Given the description of an element on the screen output the (x, y) to click on. 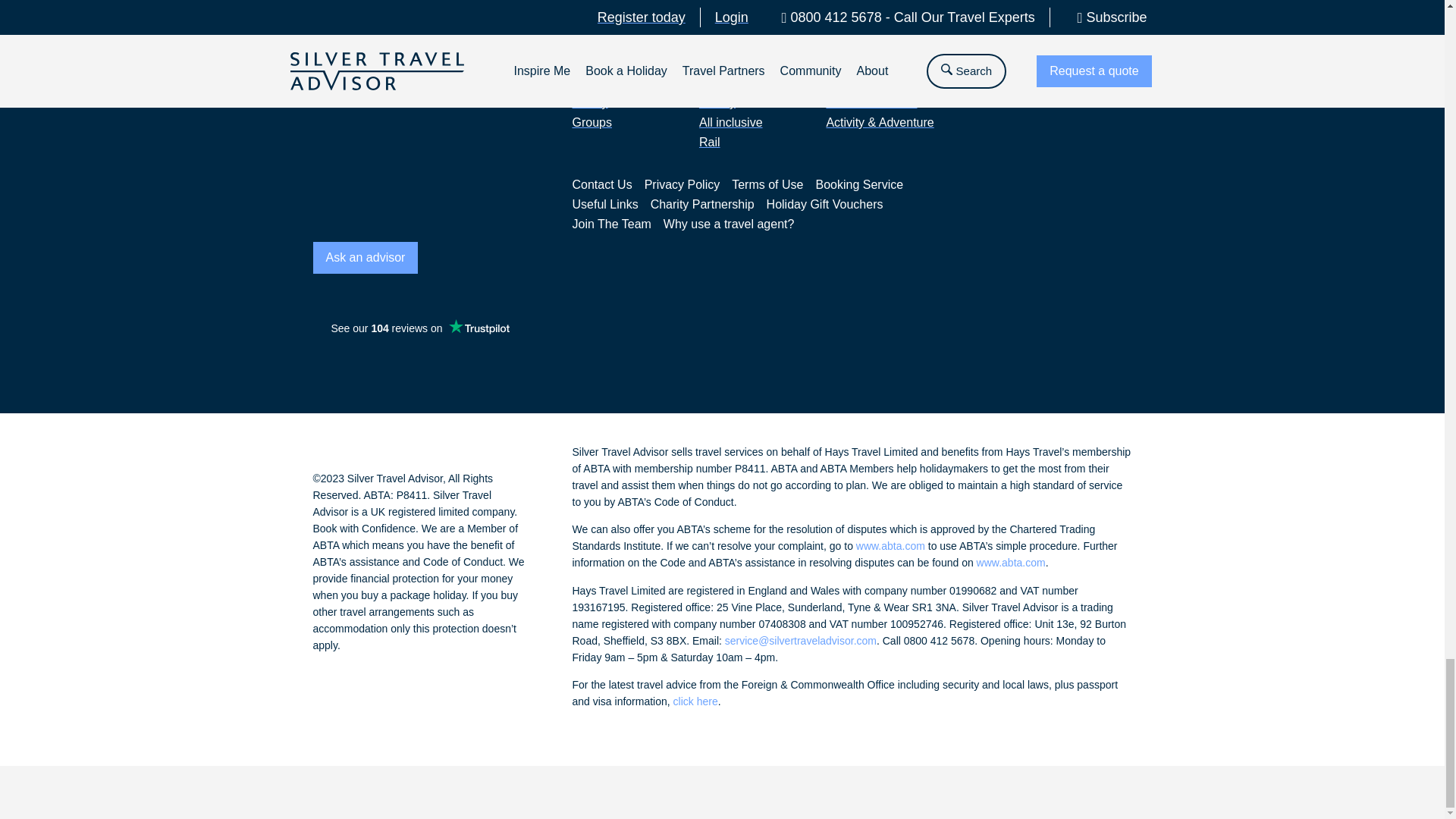
Customer reviews powered by Trustpilot (419, 328)
